Given the description of an element on the screen output the (x, y) to click on. 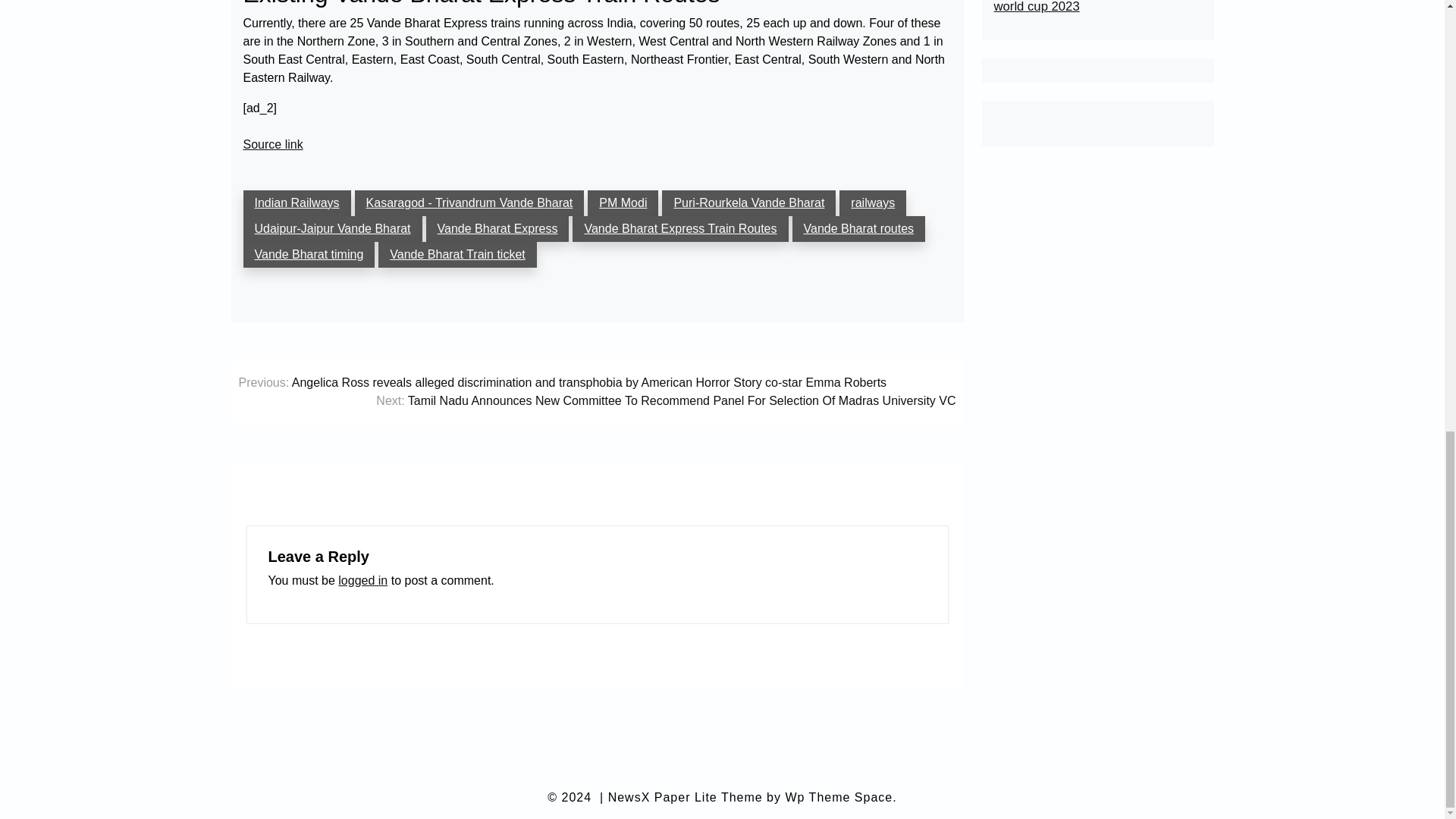
Kasaragod - Trivandrum Vande Bharat (470, 203)
PM Modi (623, 203)
Source link (272, 144)
Puri-Rourkela Vande Bharat (748, 203)
Indian Railways (296, 203)
